Given the description of an element on the screen output the (x, y) to click on. 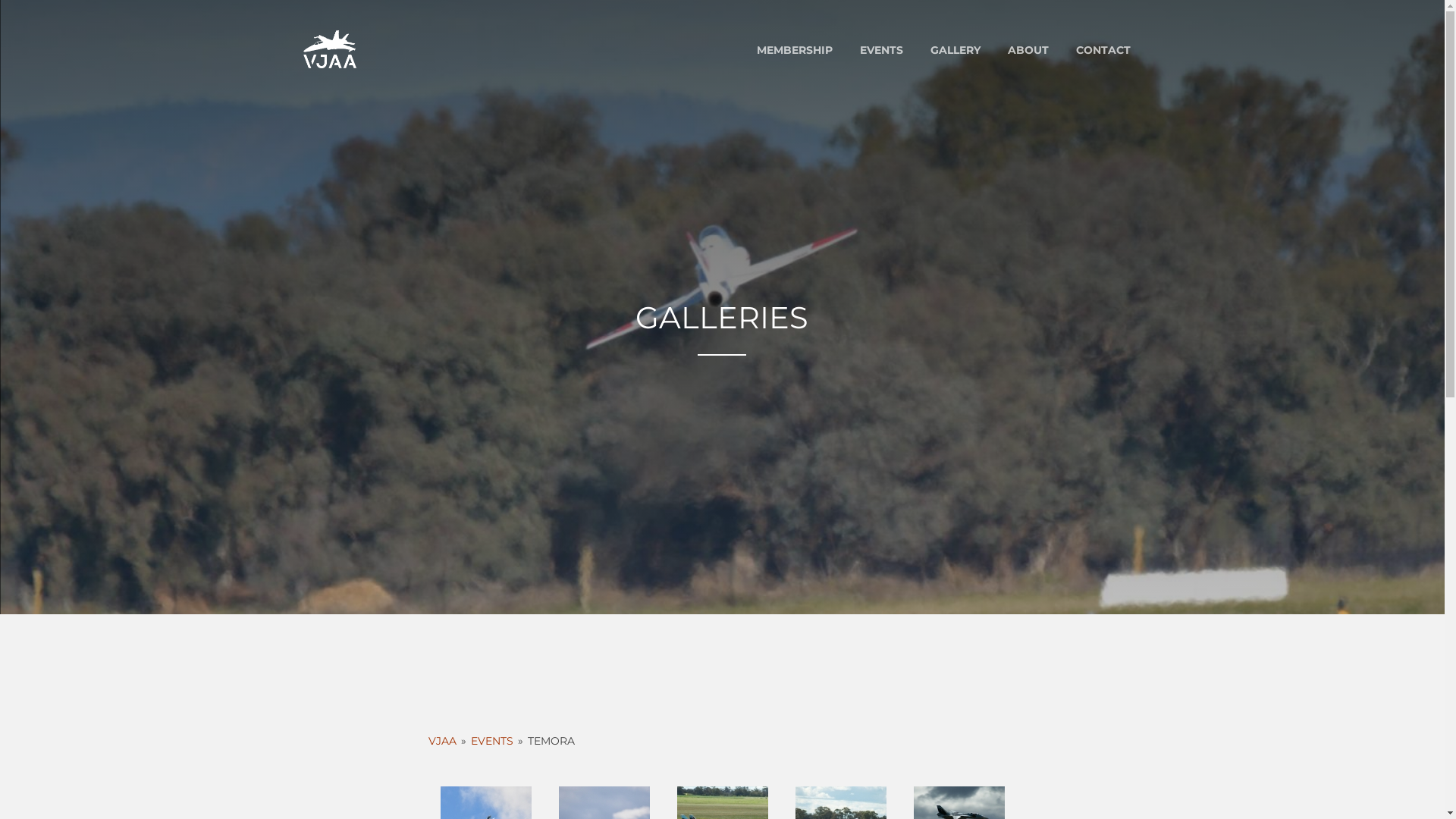
GALLERY Element type: text (954, 50)
CONTACT Element type: text (1102, 50)
EVENTS Element type: text (491, 740)
VJAA Element type: text (442, 740)
ABOUT Element type: text (1027, 50)
EVENTS Element type: text (881, 50)
MEMBERSHIP Element type: text (794, 50)
